Given the description of an element on the screen output the (x, y) to click on. 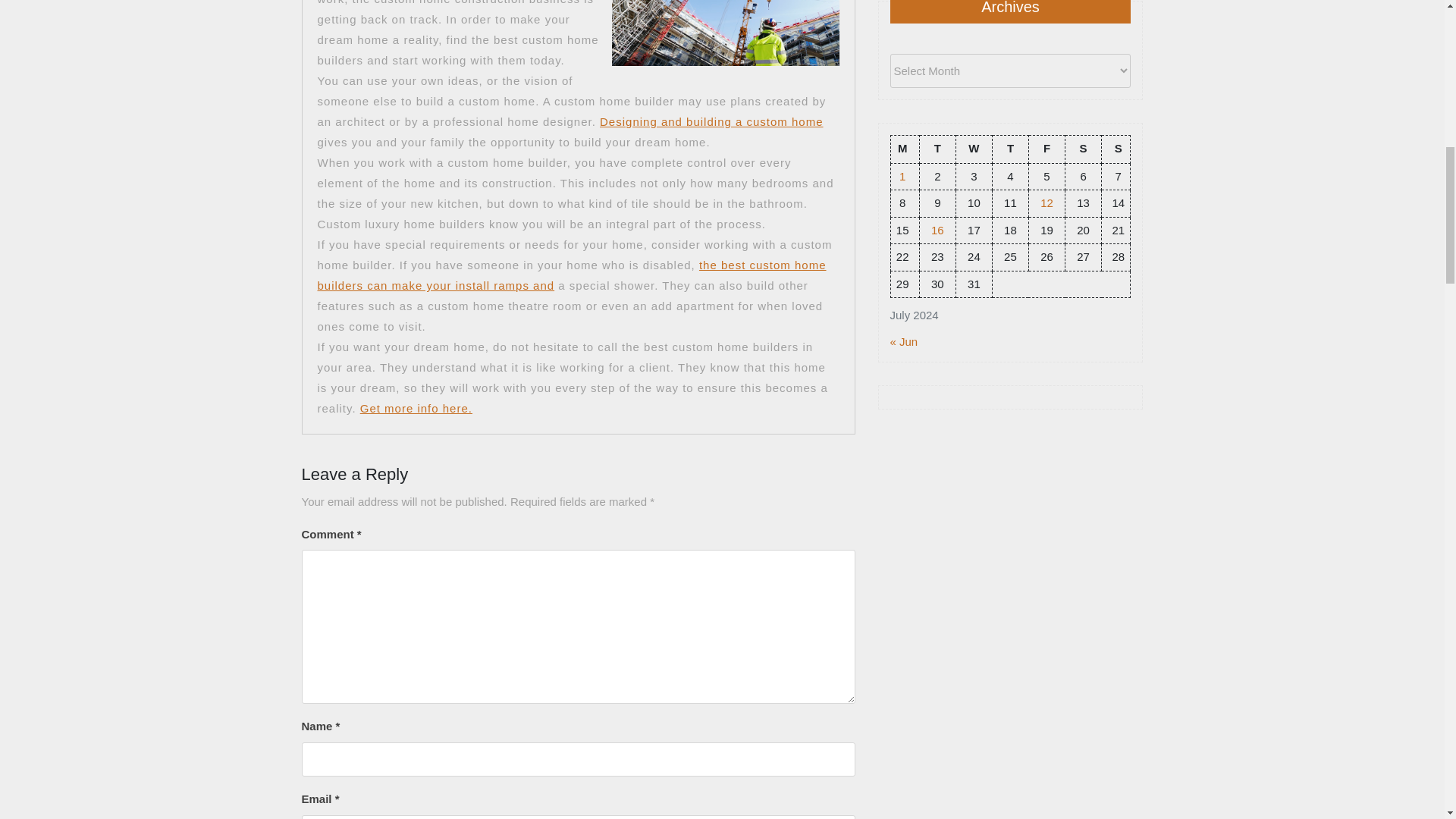
Untitled (711, 121)
Tuesday (936, 148)
Get more info here. (415, 408)
Custom home construction (415, 408)
16 (937, 228)
Thursday (1009, 148)
Wednesday (973, 148)
Saturday (1083, 148)
Monday (903, 148)
Best custom home builders, Home builders scottsdale (571, 274)
Sunday (1116, 148)
12 (1046, 202)
Friday (1045, 148)
Designing and building a custom home (711, 121)
